Given the description of an element on the screen output the (x, y) to click on. 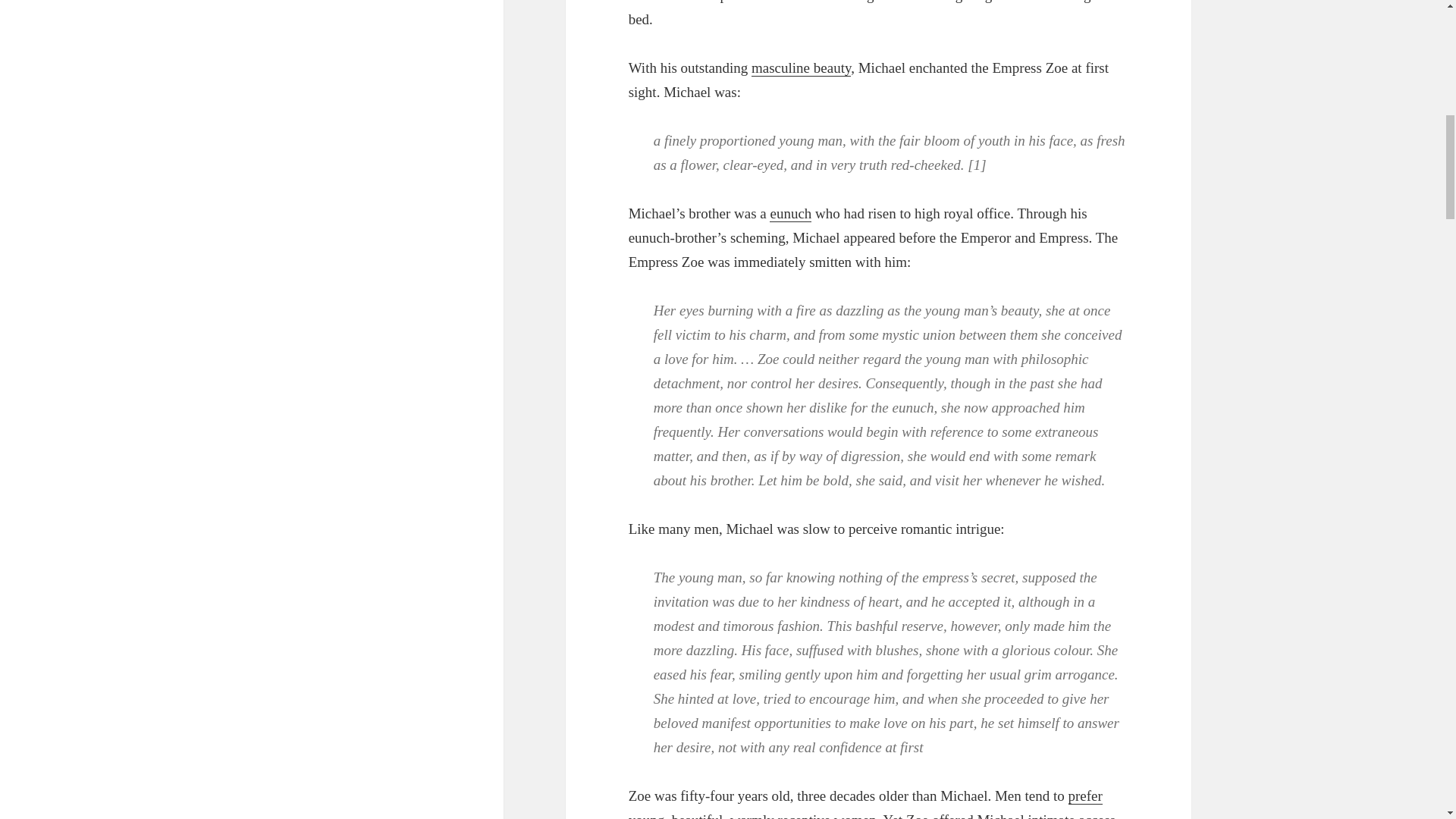
eunuch (790, 213)
prefer young, beautiful, warmly receptive women (865, 803)
masculine beauty (800, 67)
